Given the description of an element on the screen output the (x, y) to click on. 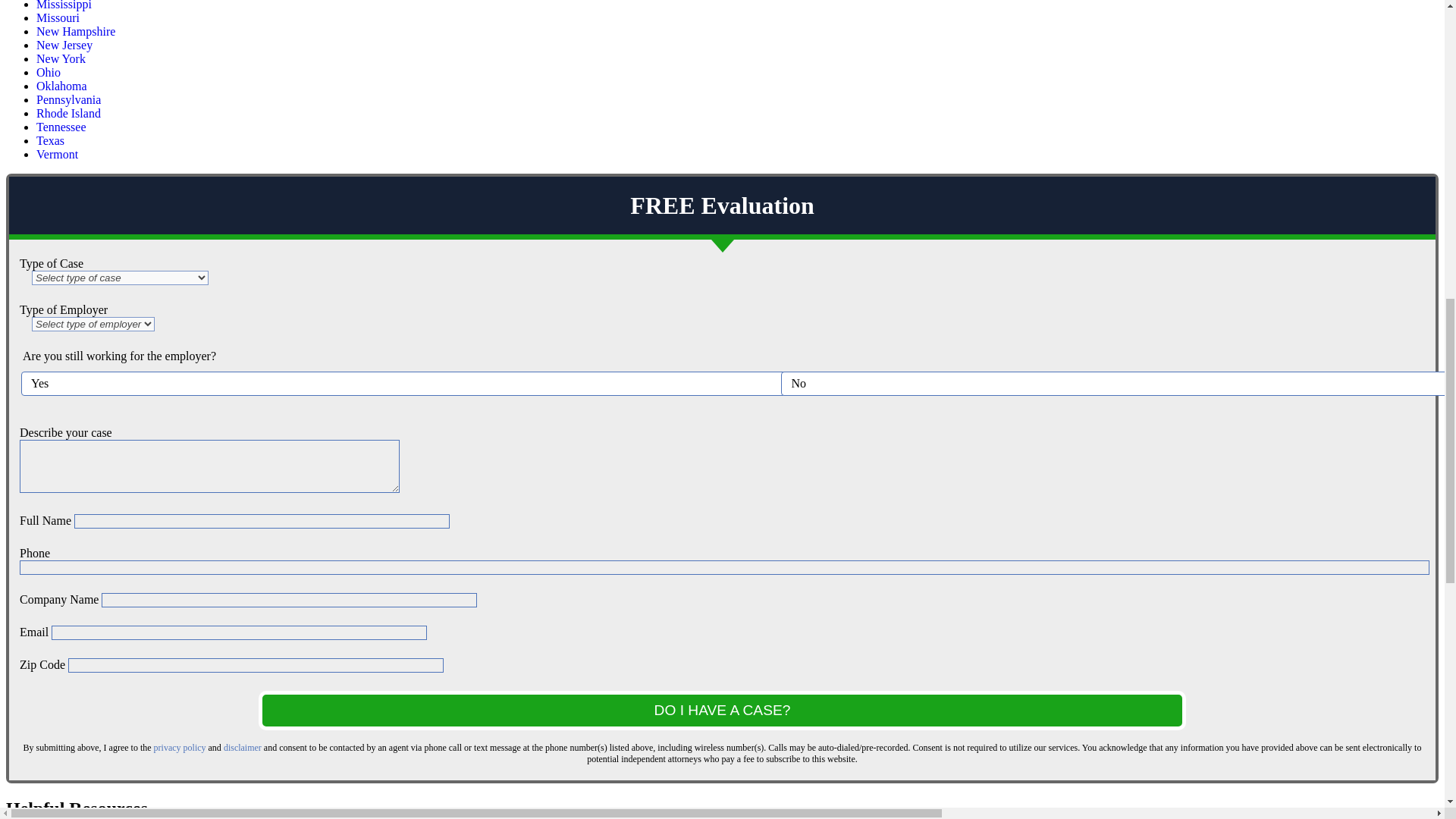
New York (60, 58)
Mississippi (63, 5)
Rhode Island (68, 113)
Ohio (48, 72)
Missouri (58, 17)
New Jersey (64, 44)
Oklahoma (61, 85)
New Hampshire (75, 31)
Pennsylvania (68, 99)
